Given the description of an element on the screen output the (x, y) to click on. 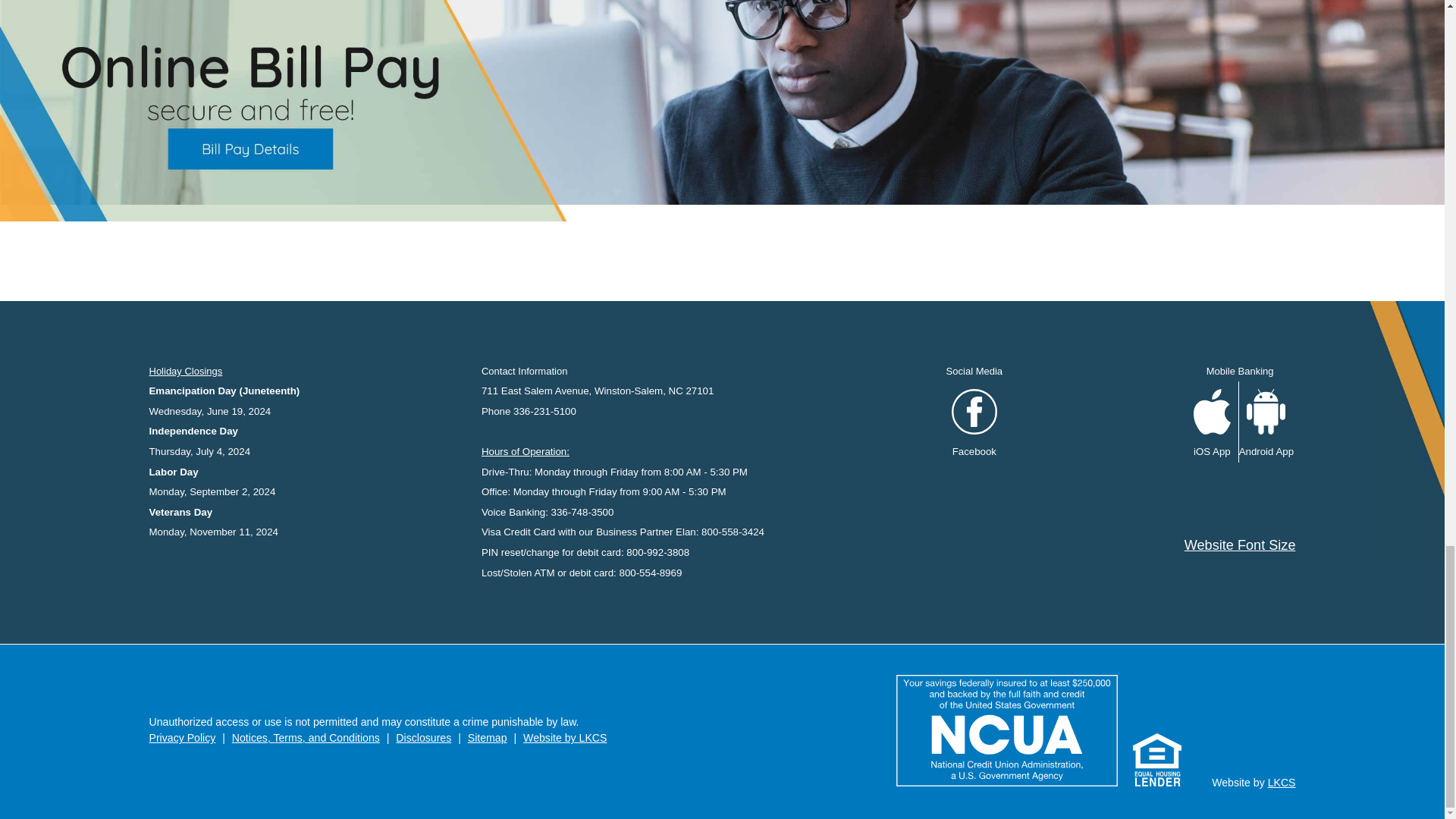
facebook (974, 411)
National Credit Union Association (1007, 730)
Equal Housing Lender (1156, 760)
